Given the description of an element on the screen output the (x, y) to click on. 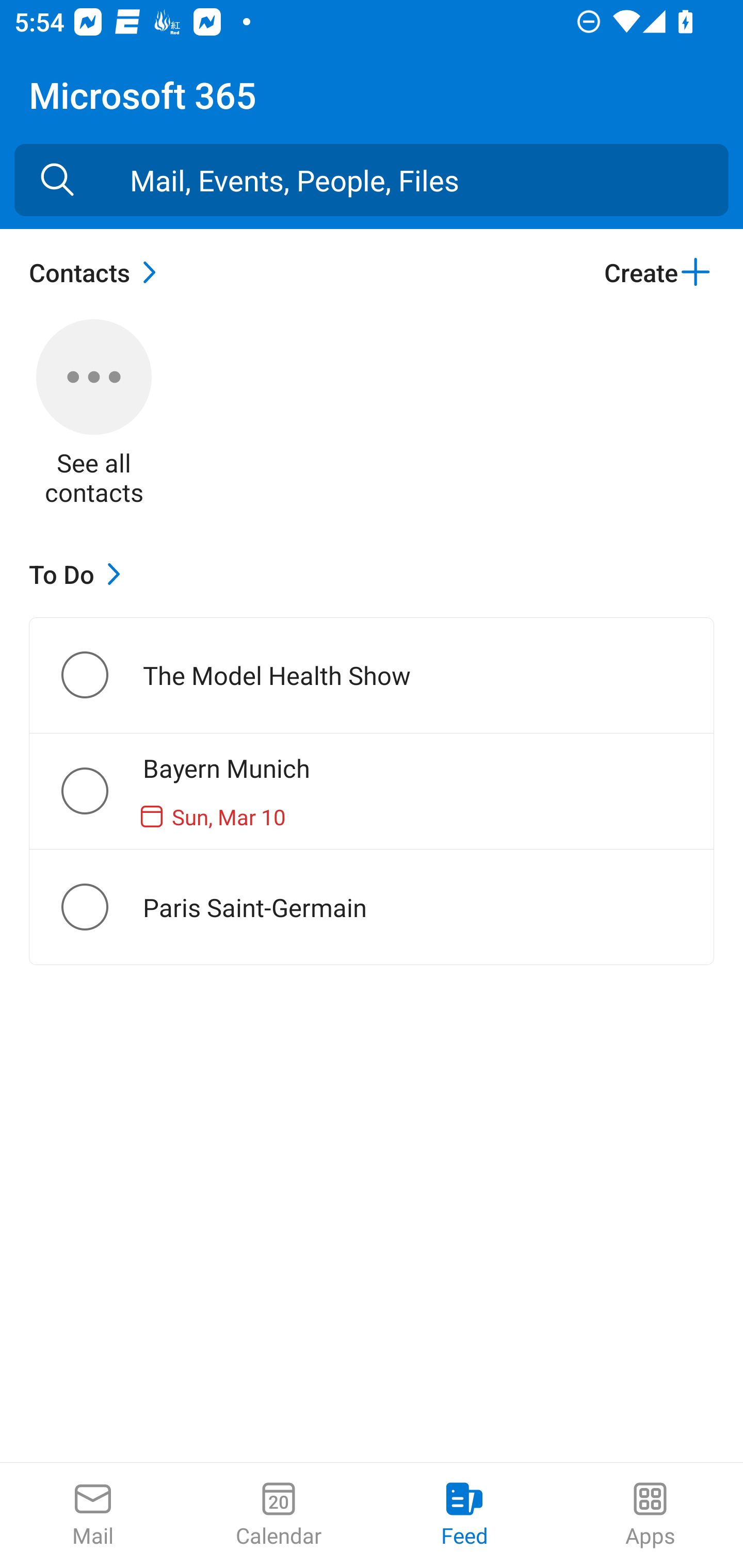
Search for Mail, Events, People, Files (57, 180)
Contacts (97, 271)
Create Create contact (658, 271)
See all contacts (93, 414)
To Do (79, 573)
The Model Health Show (101, 674)
Bayern Munich (101, 790)
Paris Saint-Germain (101, 906)
Mail (92, 1515)
Calendar (278, 1515)
Apps (650, 1515)
